Given the description of an element on the screen output the (x, y) to click on. 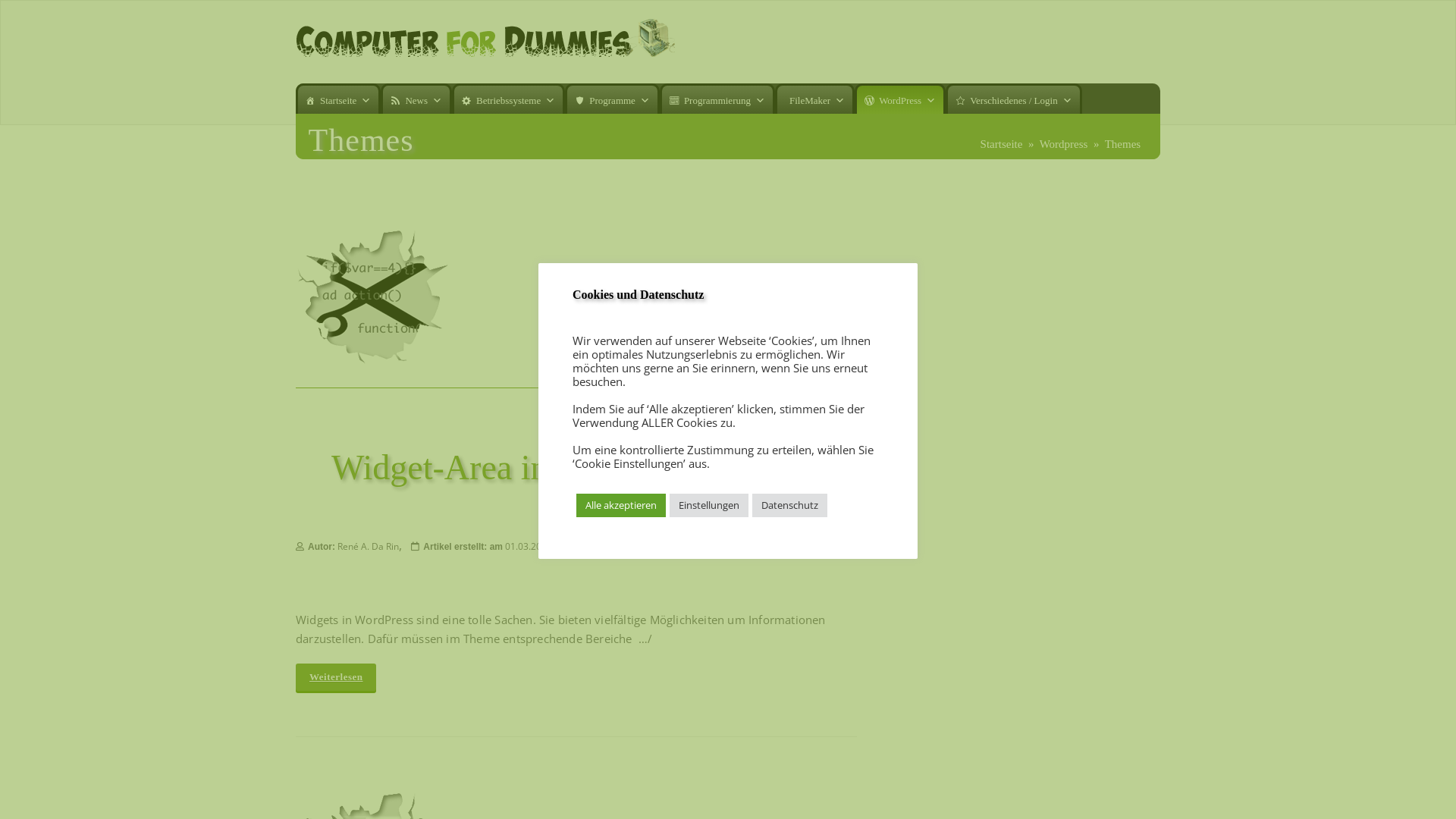
Alle akzeptieren Element type: text (620, 505)
Startseite Element type: text (1001, 144)
WordPress Element type: text (899, 98)
Startseite Element type: text (337, 98)
Einstellungen Element type: text (708, 505)
Verschiedenes / Login Element type: text (1013, 98)
Wordpress Element type: text (1063, 144)
Betriebssysteme Element type: text (507, 98)
FileMaker Element type: text (814, 98)
News Element type: text (415, 98)
Programme Element type: text (611, 98)
Programmierung Element type: text (717, 98)
Weiterlesen Element type: text (335, 676)
Datenschutz Element type: text (789, 505)
